Given the description of an element on the screen output the (x, y) to click on. 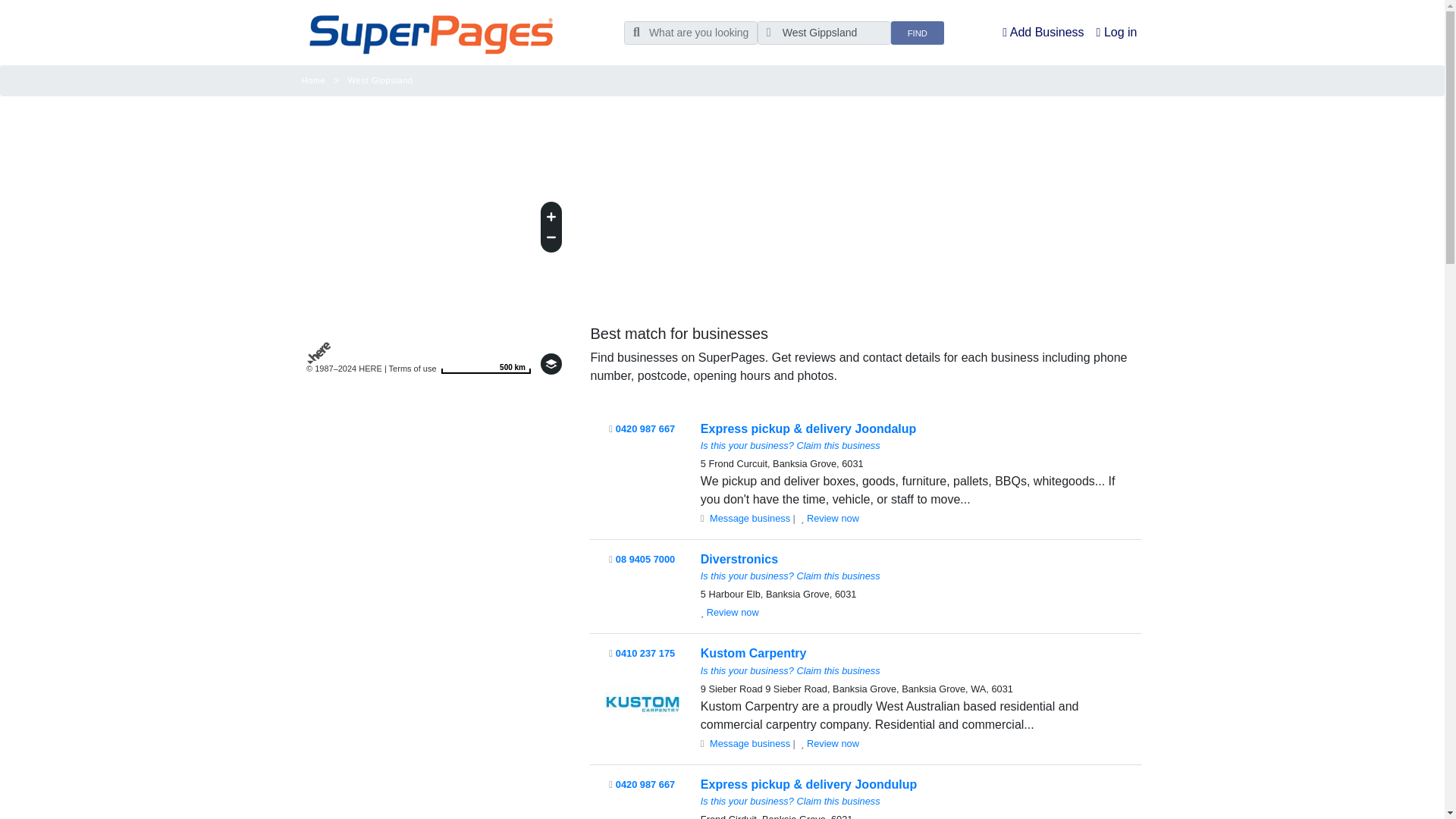
West Gippsland (824, 33)
Choose view (551, 363)
Advertisement (865, 205)
Zoom out (551, 239)
Advertisement (433, 605)
Change to miles (486, 363)
Zoom in (486, 363)
